Given the description of an element on the screen output the (x, y) to click on. 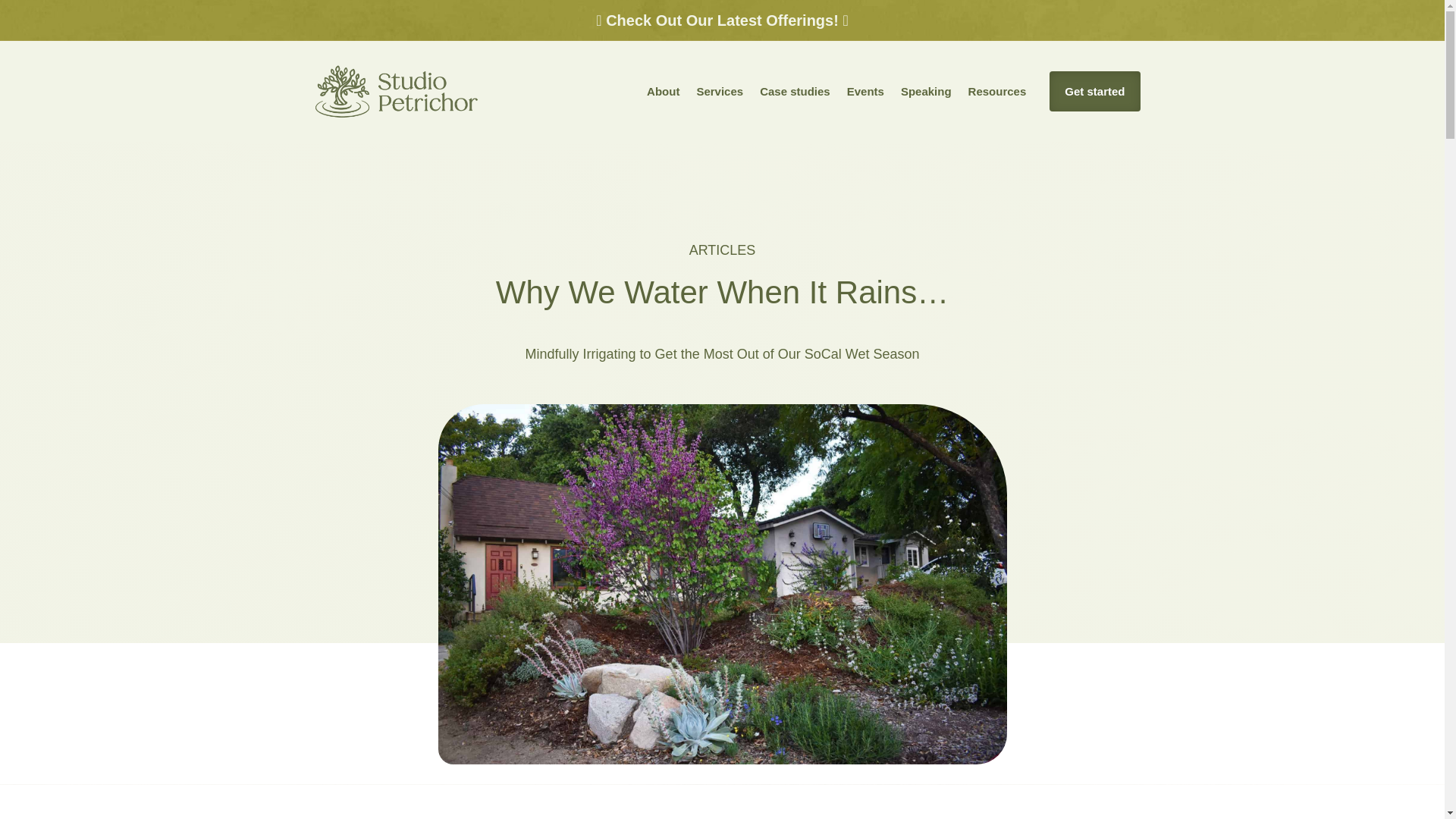
Get started (1094, 91)
Case studies (794, 90)
Resources (997, 90)
ARTICLES (721, 249)
